Given the description of an element on the screen output the (x, y) to click on. 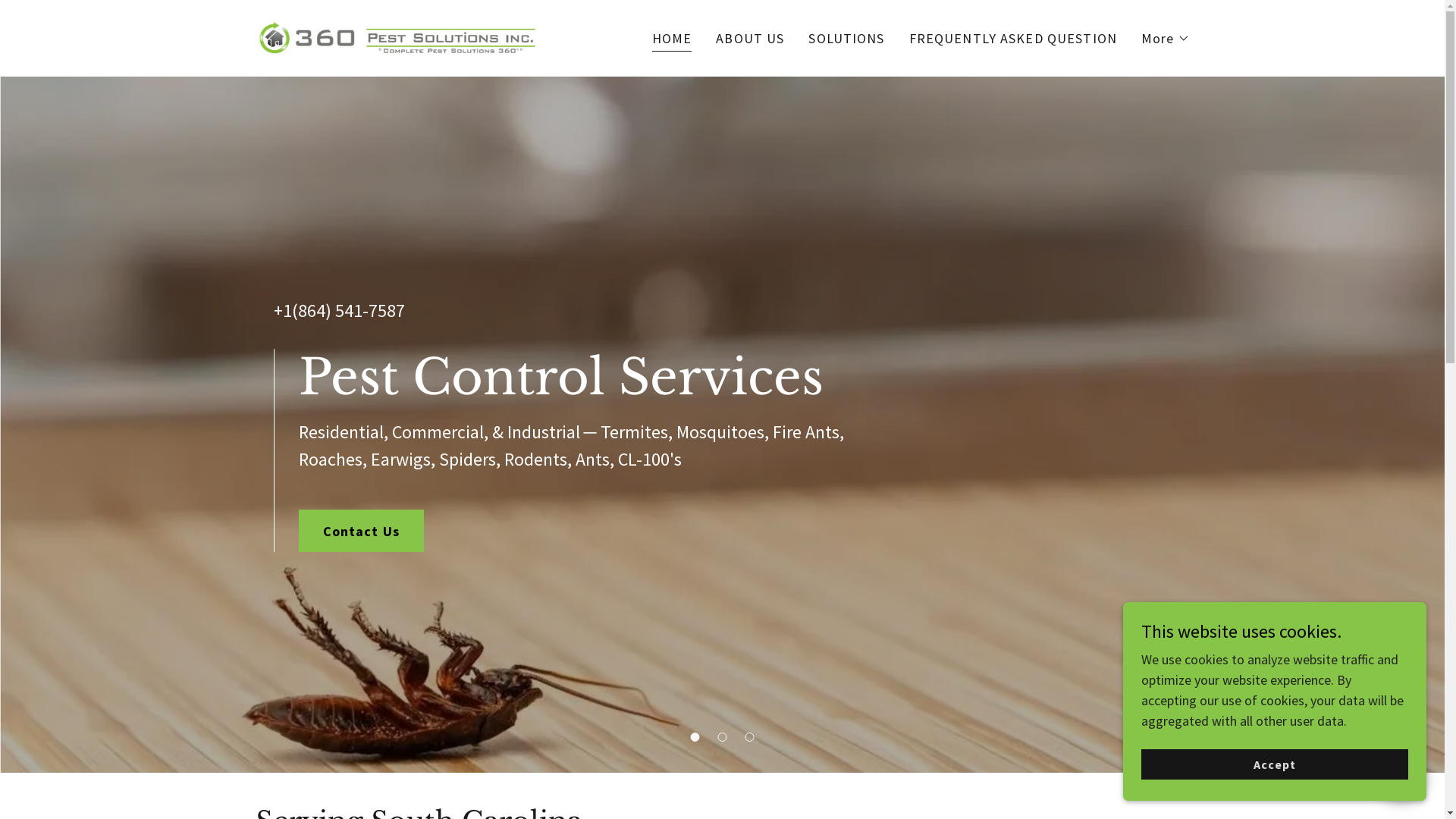
SOLUTIONS Element type: text (845, 37)
HOME Element type: text (672, 39)
Contact Us Element type: text (360, 530)
+1(864) 541-7587 Element type: text (338, 310)
ABOUT US Element type: text (749, 37)
More Element type: text (1165, 37)
Accept Element type: text (1274, 764)
360 Pests Solutions, Inc. Element type: hover (396, 36)
FREQUENTLY ASKED QUESTION Element type: text (1012, 37)
